Given the description of an element on the screen output the (x, y) to click on. 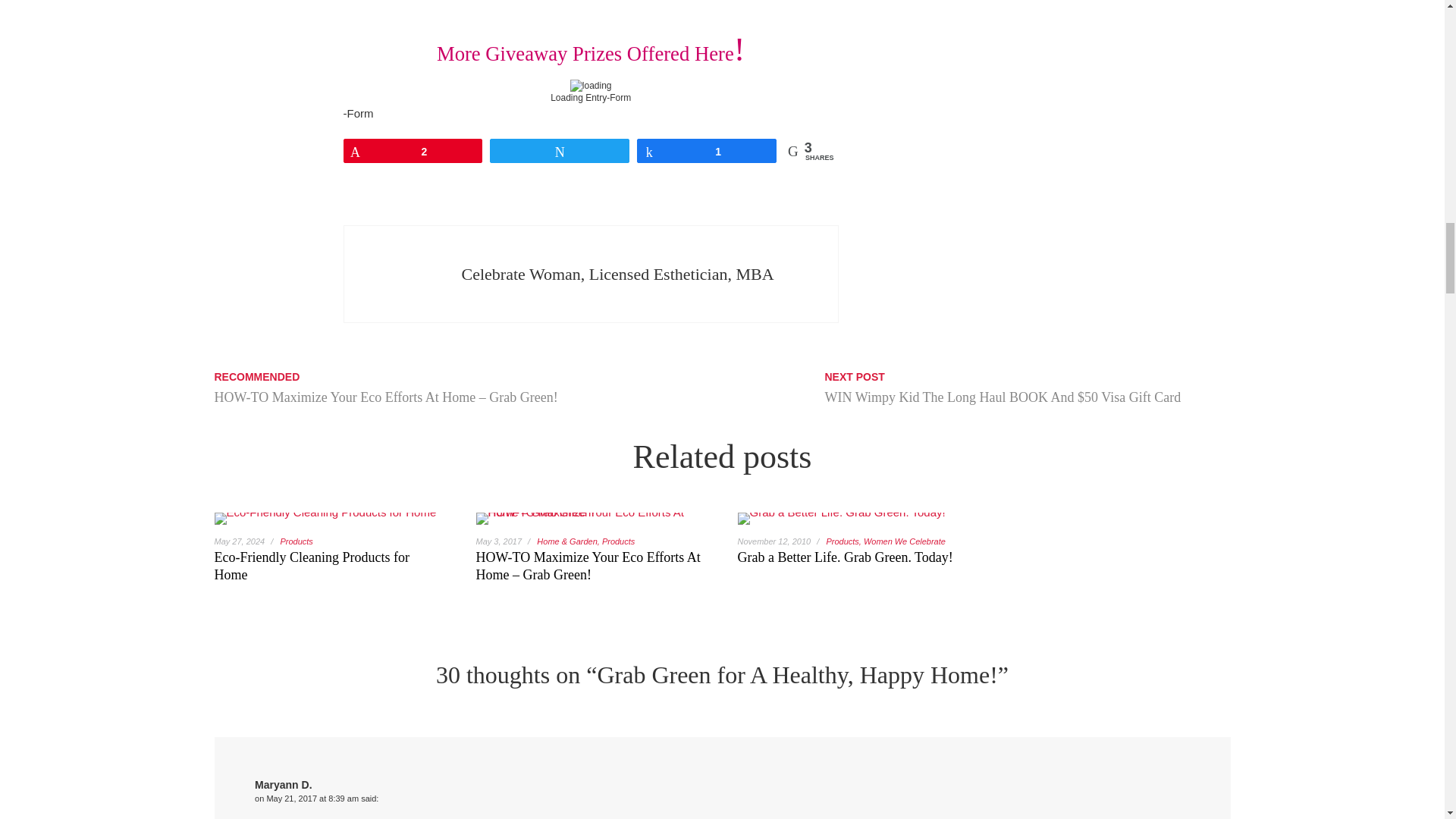
View all articles from: Products (842, 541)
View all articles from: Products (618, 541)
View all articles from: Products (296, 541)
View all articles from: Women We Celebrate (903, 541)
